Given the description of an element on the screen output the (x, y) to click on. 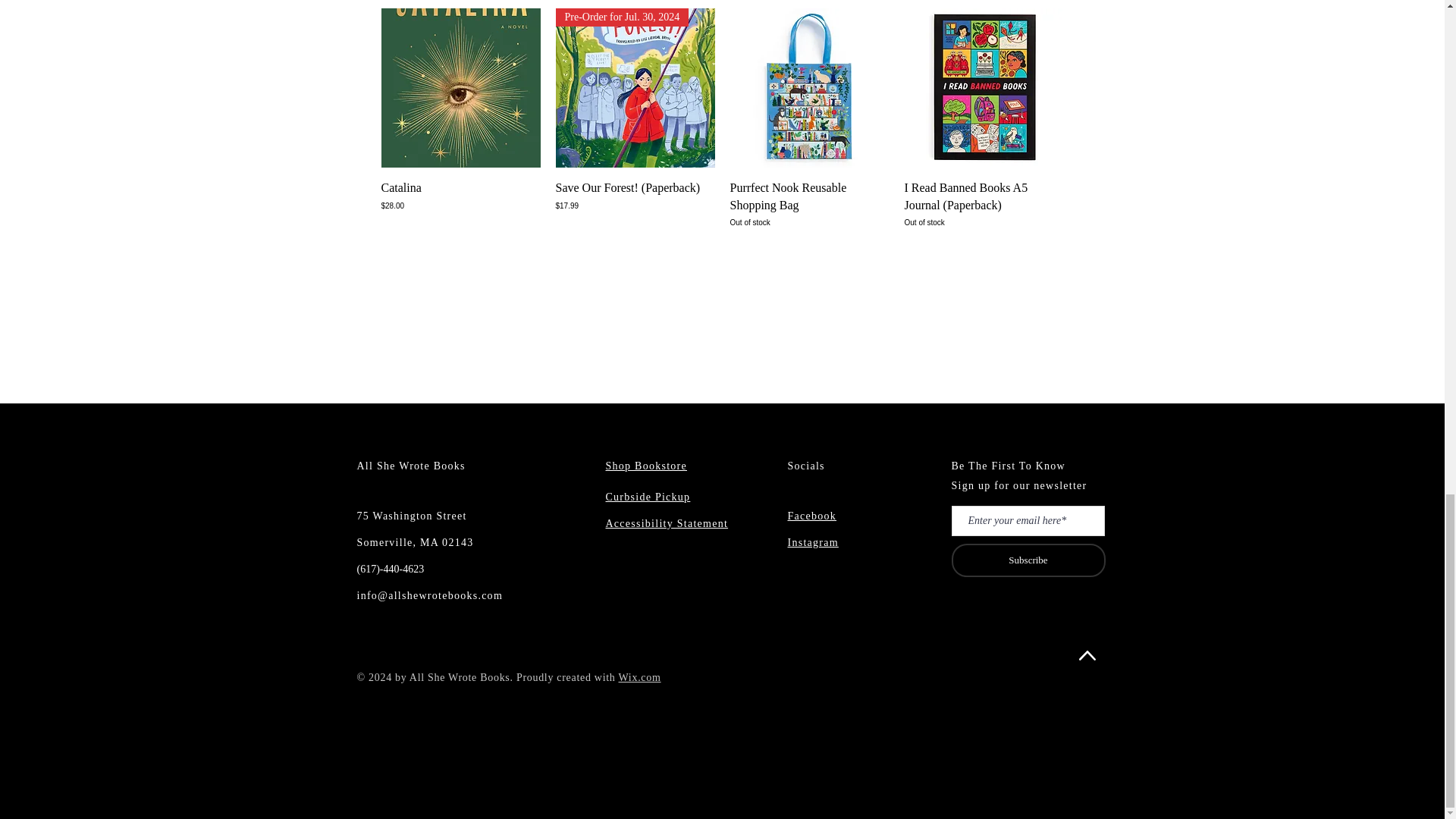
Pre-Order for Jul. 30, 2024 (634, 87)
